Given the description of an element on the screen output the (x, y) to click on. 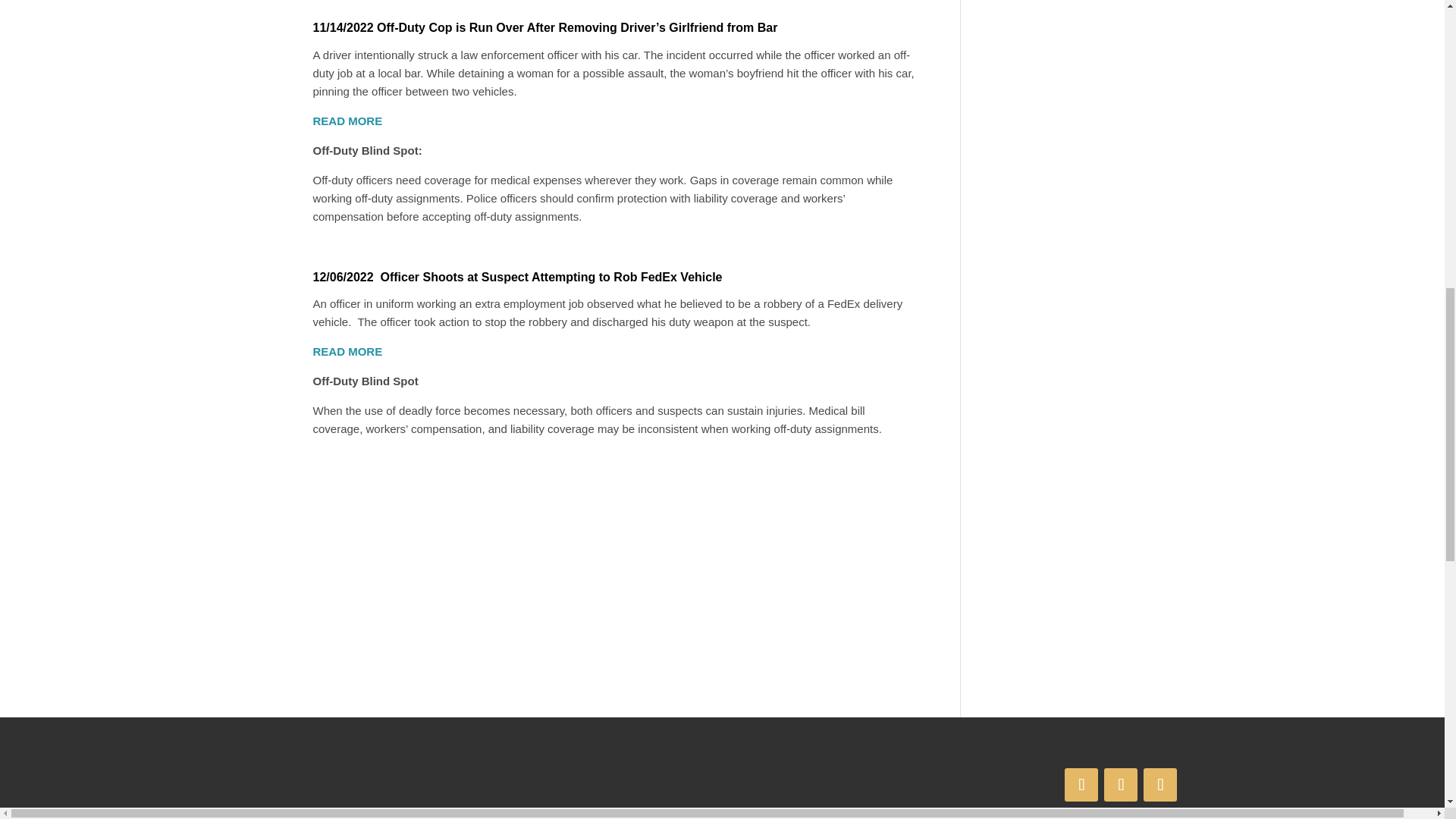
Follow on Facebook (1080, 784)
Follow on Youtube (1159, 784)
Follow on LinkedIn (1120, 784)
